Given the description of an element on the screen output the (x, y) to click on. 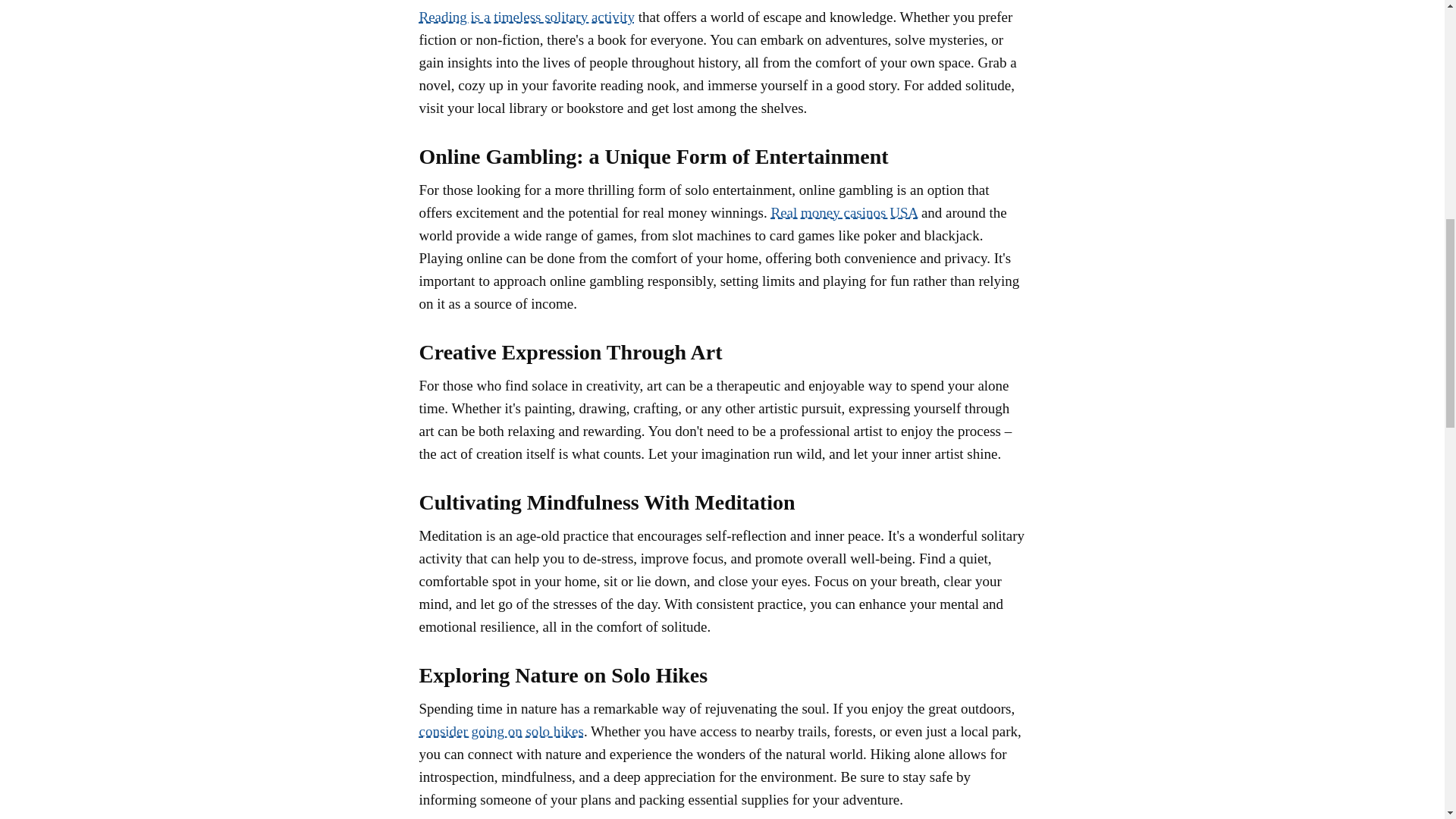
Real money casinos USA (843, 212)
consider going on solo hikes (501, 731)
Reading is a timeless solitary activity (526, 17)
